Given the description of an element on the screen output the (x, y) to click on. 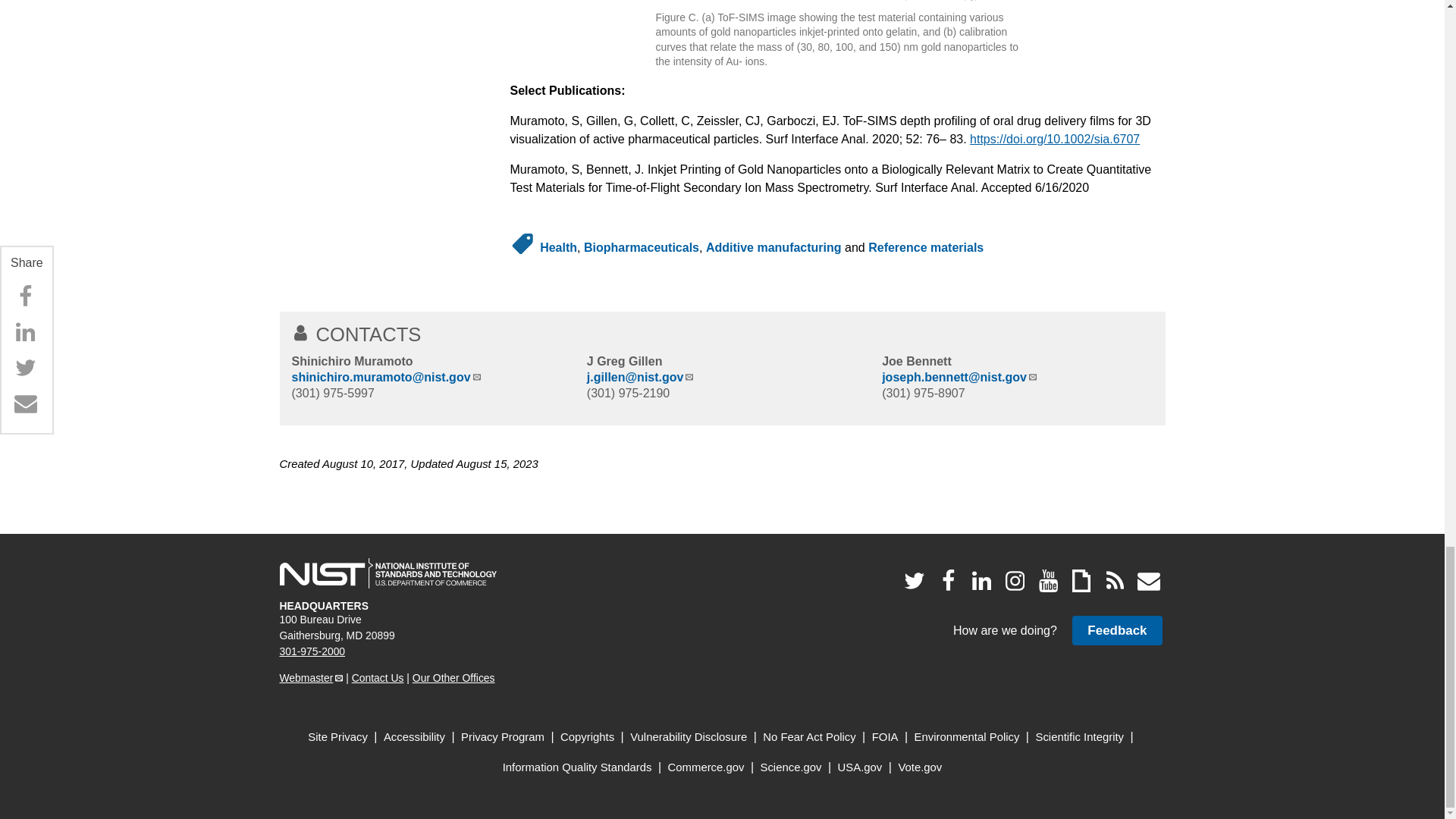
View staff profile page (917, 360)
National Institute of Standards and Technology (387, 572)
Health (558, 246)
Reference materials (925, 246)
Additive manufacturing (773, 246)
View staff profile page (624, 360)
Shinichiro Muramoto (351, 360)
View staff profile page (351, 360)
Provide feedback (1116, 630)
Biopharmaceuticals (640, 246)
